Given the description of an element on the screen output the (x, y) to click on. 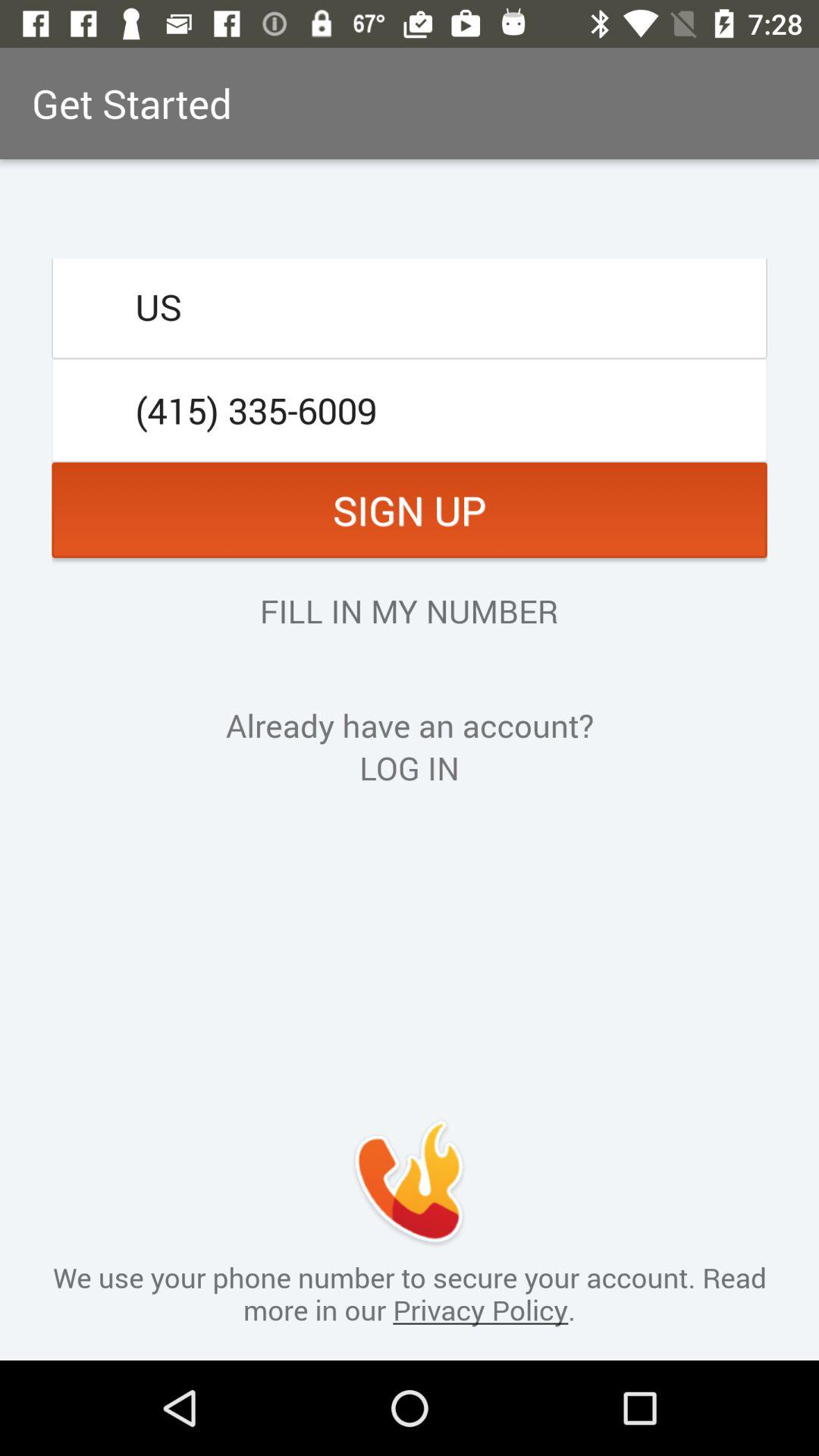
launch the sign up (409, 509)
